Given the description of an element on the screen output the (x, y) to click on. 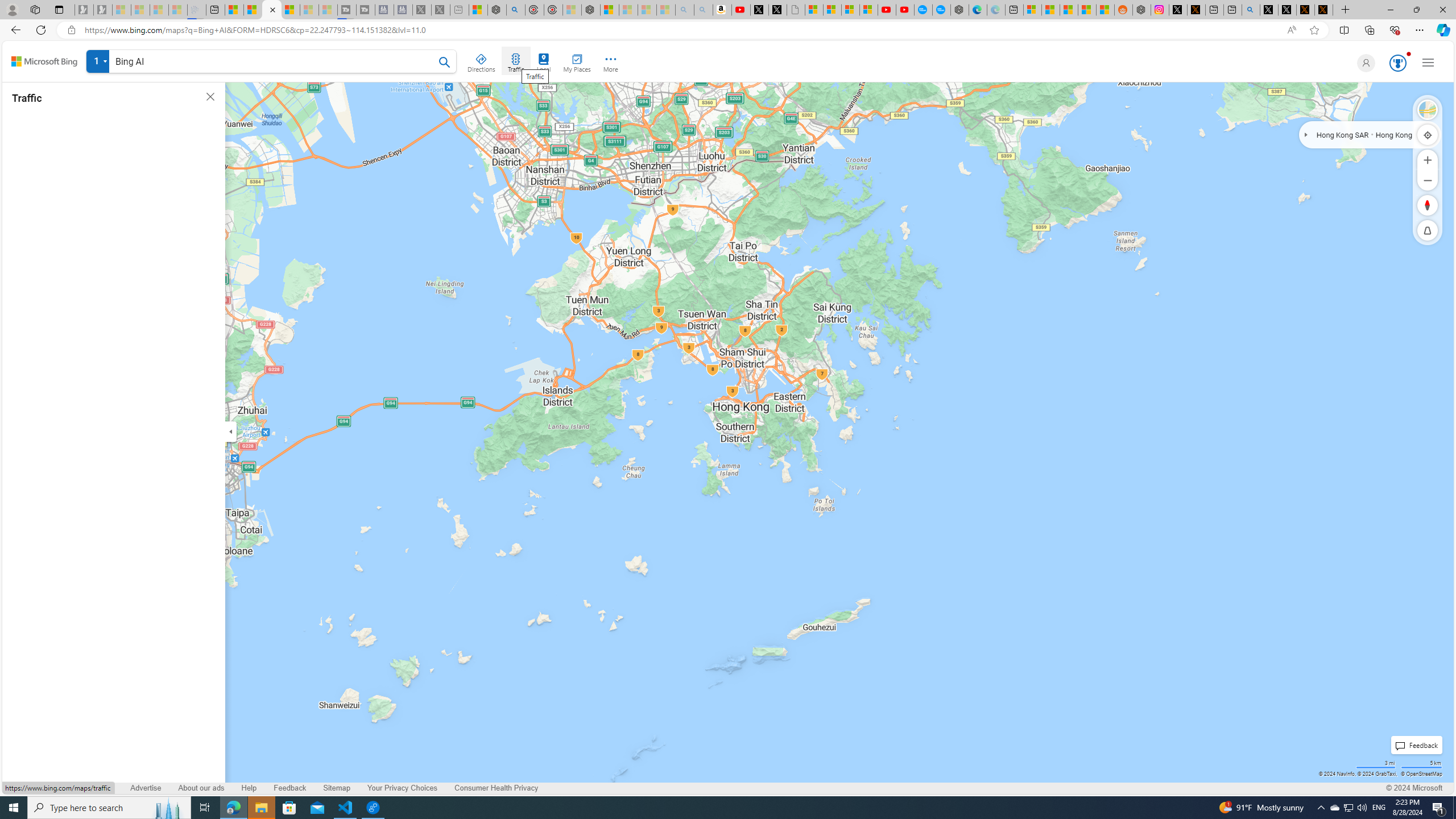
Gloom - YouTube (887, 9)
Wildlife - MSN (478, 9)
Search Bing Maps (444, 61)
About our ads (200, 787)
 View all your searches (97, 60)
Consumer Health Privacy (496, 787)
